Given the description of an element on the screen output the (x, y) to click on. 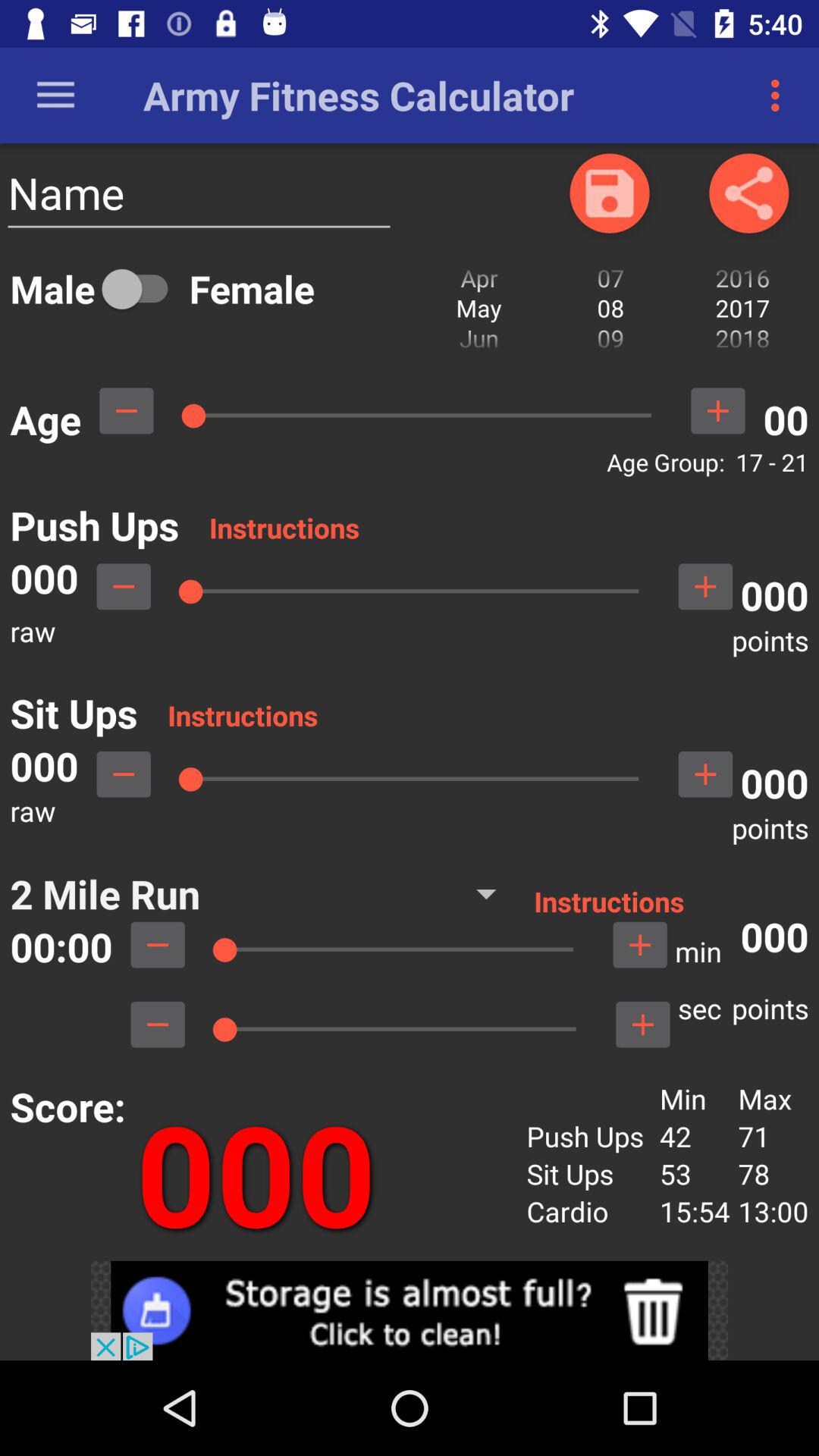
click decrease button (157, 1024)
